Given the description of an element on the screen output the (x, y) to click on. 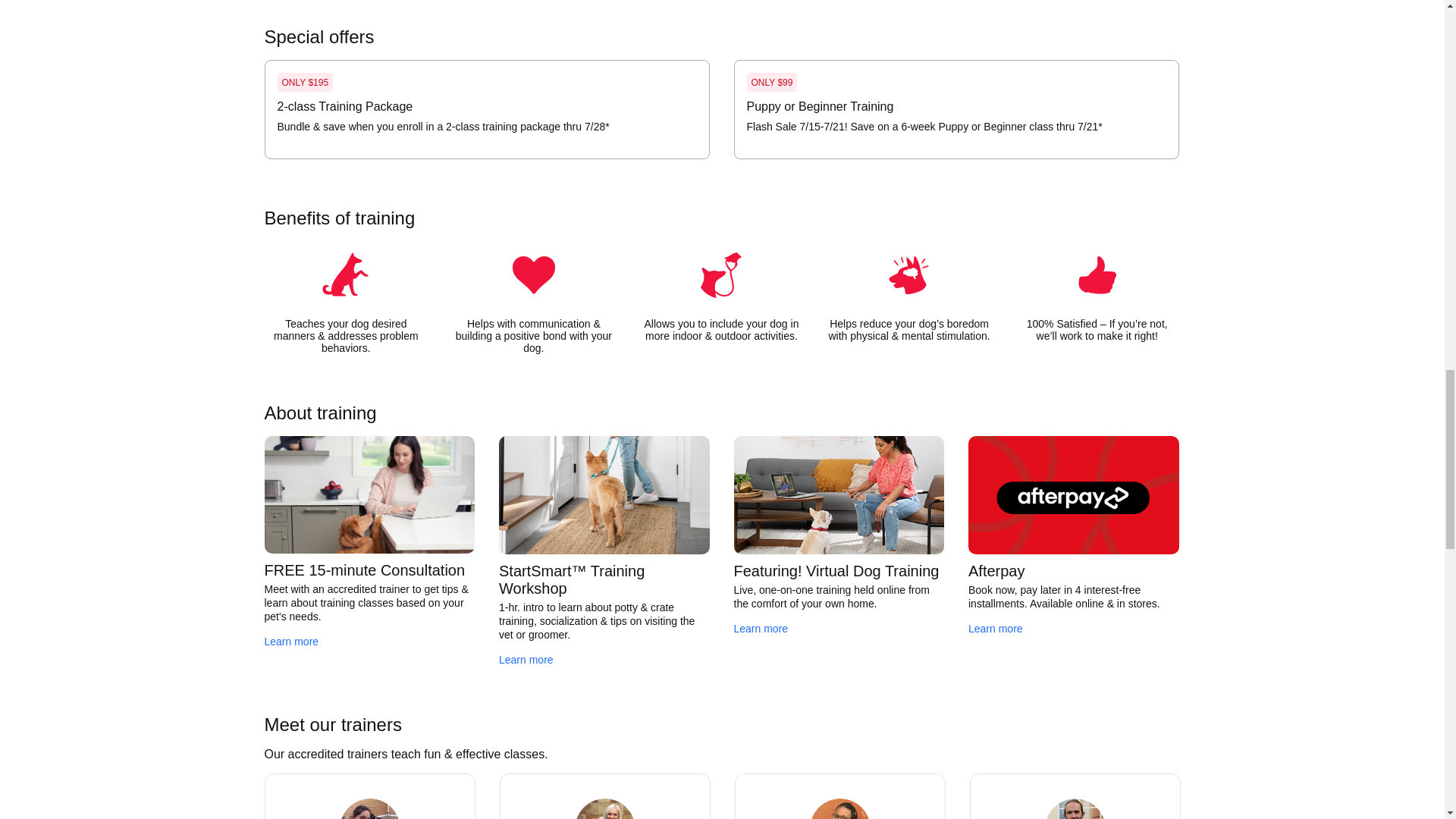
Learn more (526, 659)
Learn more (995, 628)
Learn more (290, 641)
Learn more (761, 628)
Meeka J. (839, 808)
Lisa S. (604, 808)
Tiffany W. (369, 808)
Pat W. (1075, 808)
